Given the description of an element on the screen output the (x, y) to click on. 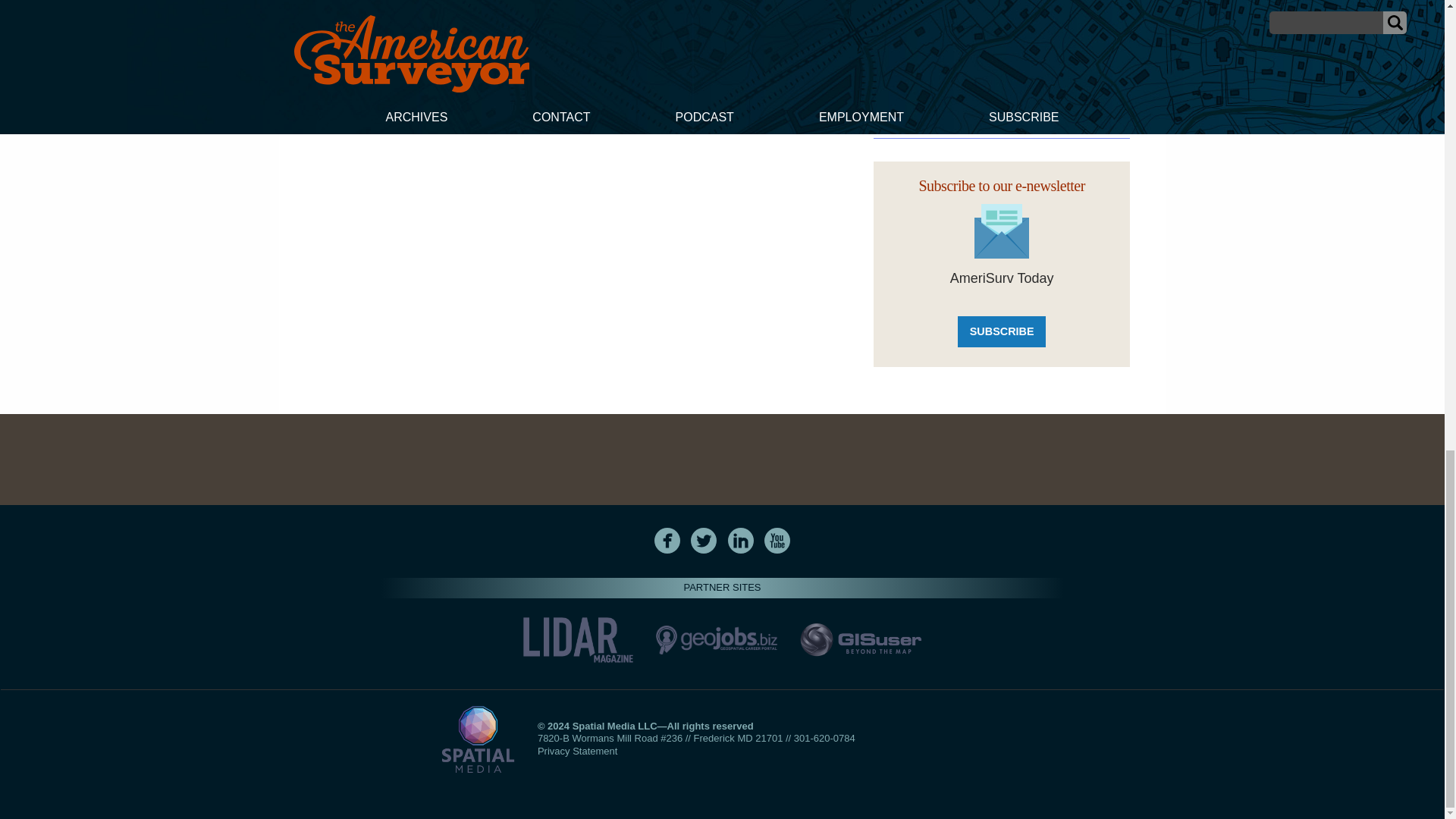
icon-sm-linkedin (740, 540)
icon-sm-youtube (777, 540)
icon-sm-fb (666, 540)
3rd party ad content (1001, 57)
3rd party ad content (721, 459)
icon-sm-twitter (703, 540)
icon-sm-linkedin (741, 540)
Privacy Statement (577, 750)
icon-sm-fb (667, 540)
icon-sm-twitter (703, 540)
